Given the description of an element on the screen output the (x, y) to click on. 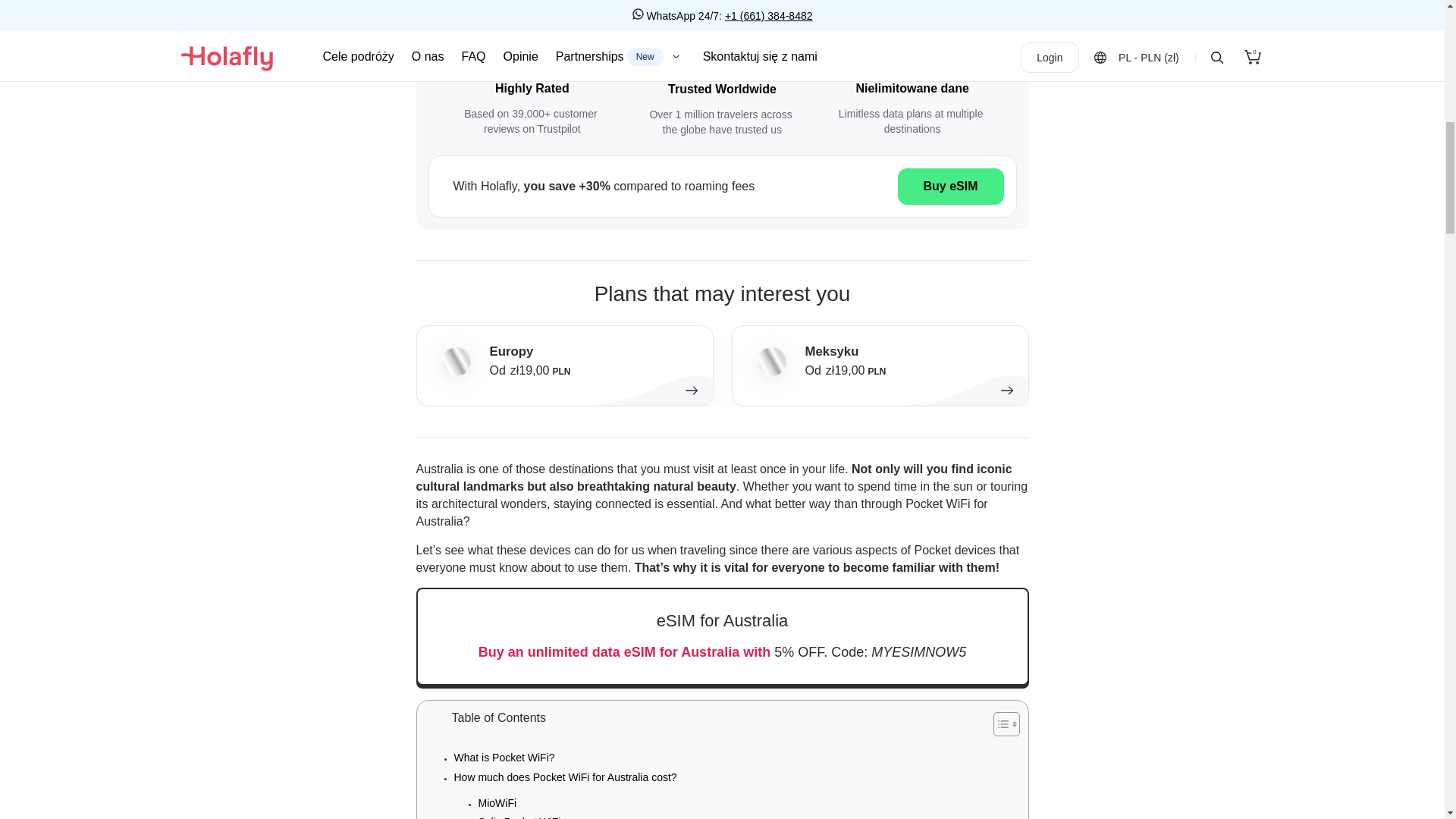
What is Pocket WiFi? (503, 757)
